Given the description of an element on the screen output the (x, y) to click on. 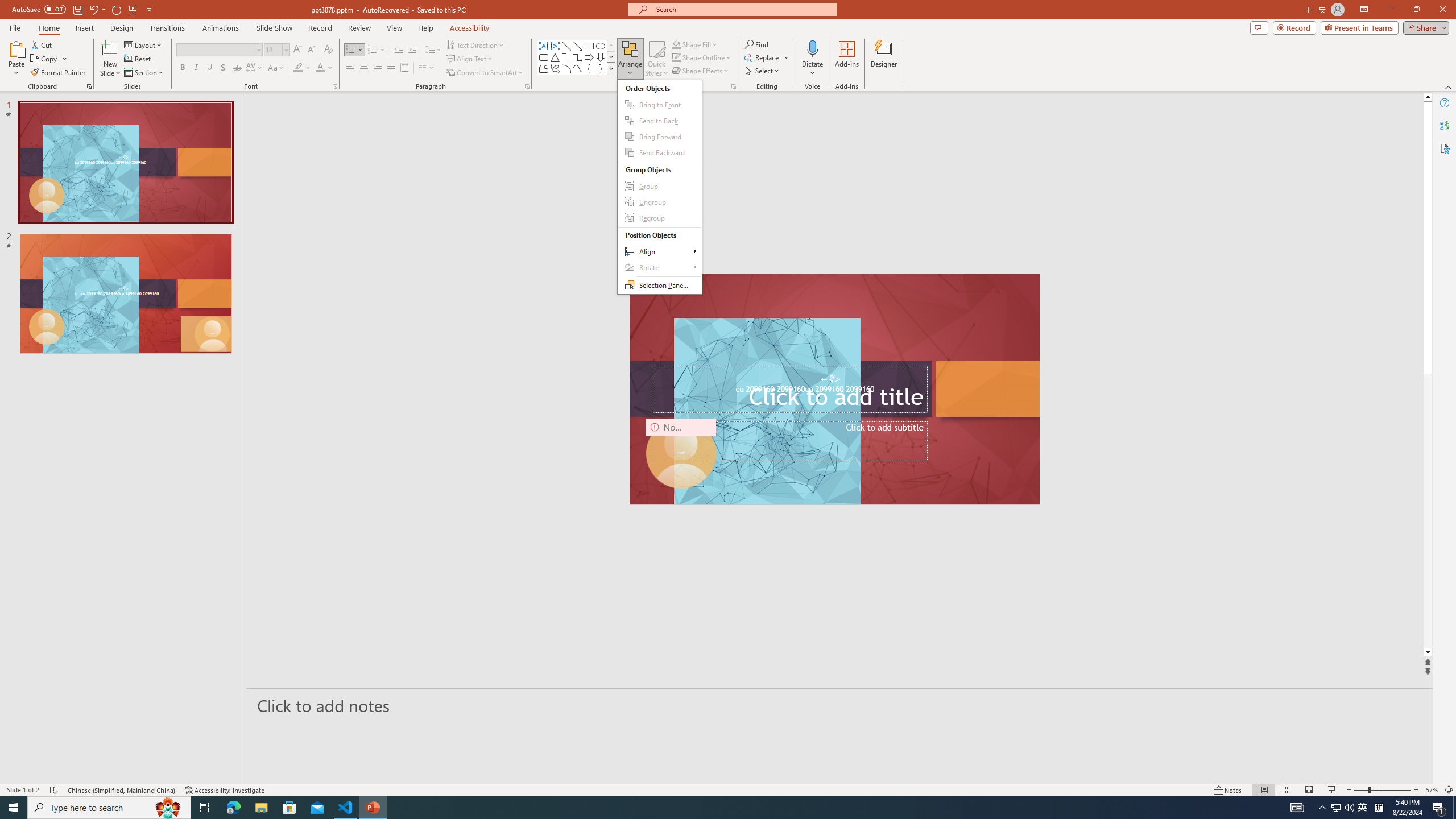
Text Highlight Color Yellow (297, 67)
Vertical Text Box (554, 45)
Q2790: 100% (1349, 807)
Subtitle TextBox (789, 440)
Italic (195, 67)
Increase Indent (412, 49)
Running applications (707, 807)
Shape Effects (700, 69)
